Given the description of an element on the screen output the (x, y) to click on. 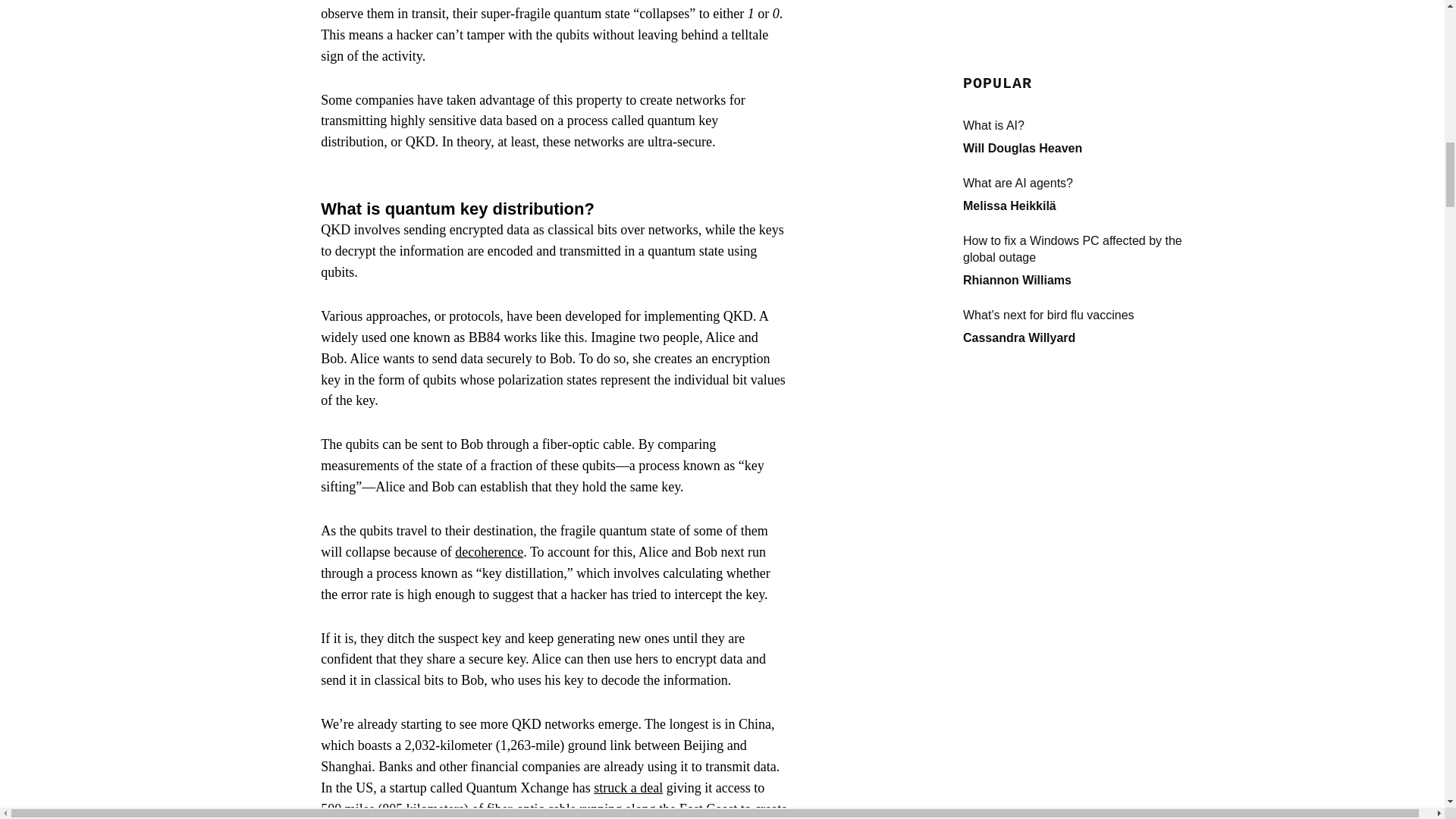
decoherence (488, 551)
struck a deal (628, 787)
